Given the description of an element on the screen output the (x, y) to click on. 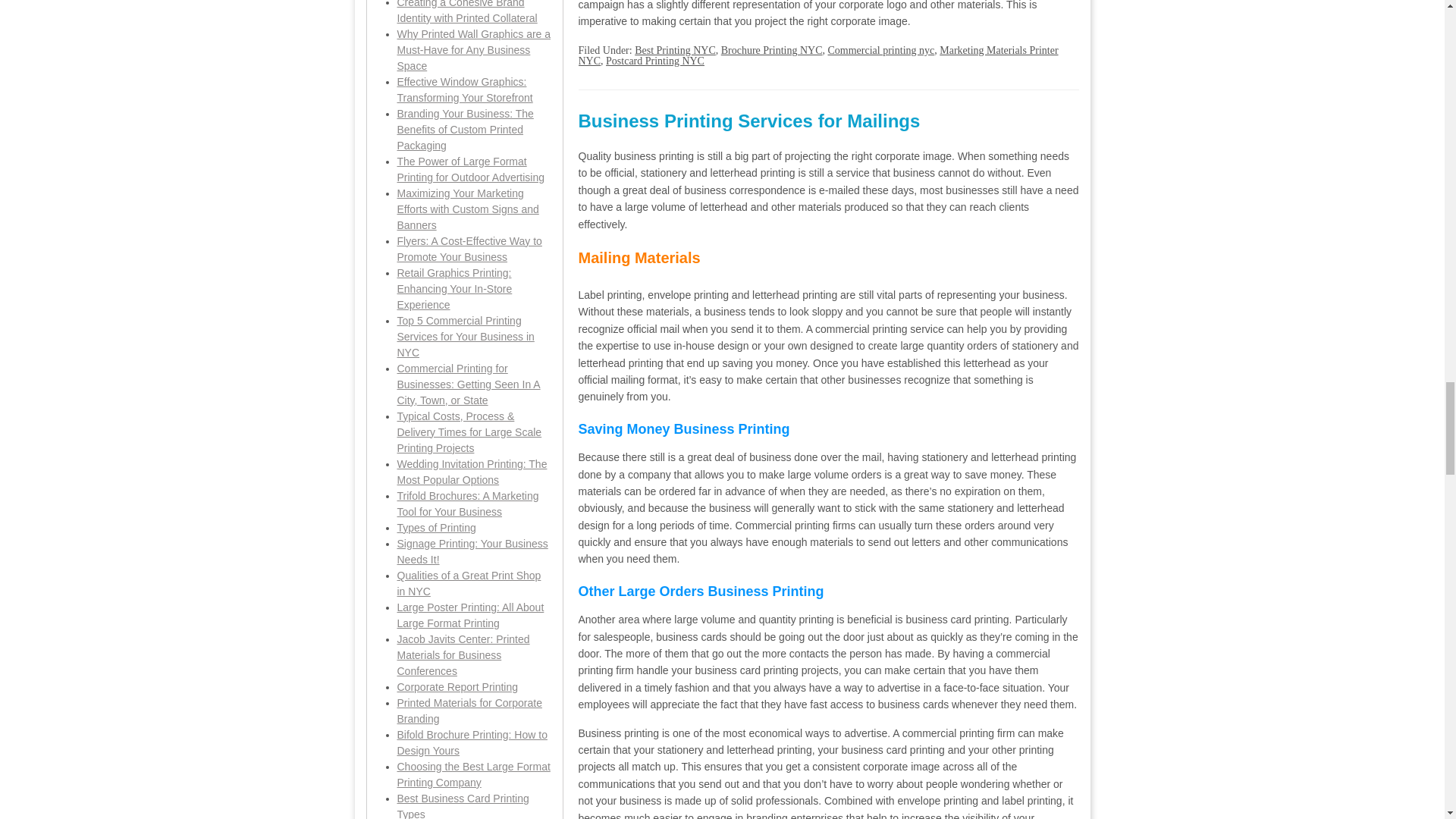
Top 5 Commercial Printing Services for Your Business in NYC (465, 336)
The Power of Large Format Printing for Outdoor Advertising (470, 169)
Business Printing Services for Mailings (749, 120)
Flyers: A Cost-Effective Way to Promote Your Business (469, 248)
Retail Graphics Printing: Enhancing Your In-Store Experience (454, 288)
Effective Window Graphics: Transforming Your Storefront (464, 90)
